Given the description of an element on the screen output the (x, y) to click on. 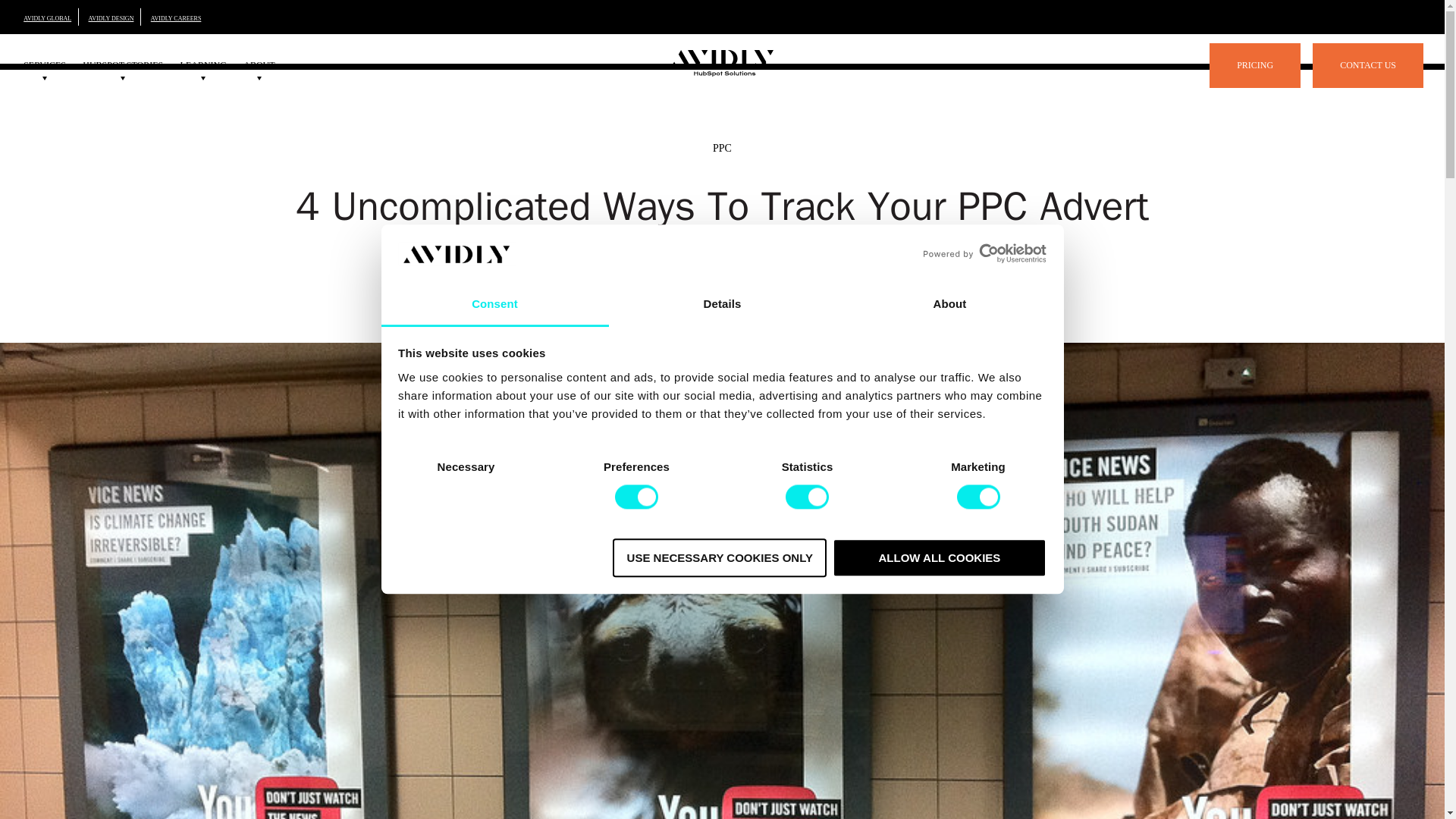
About (948, 304)
Consent (494, 304)
Details (721, 304)
